Given the description of an element on the screen output the (x, y) to click on. 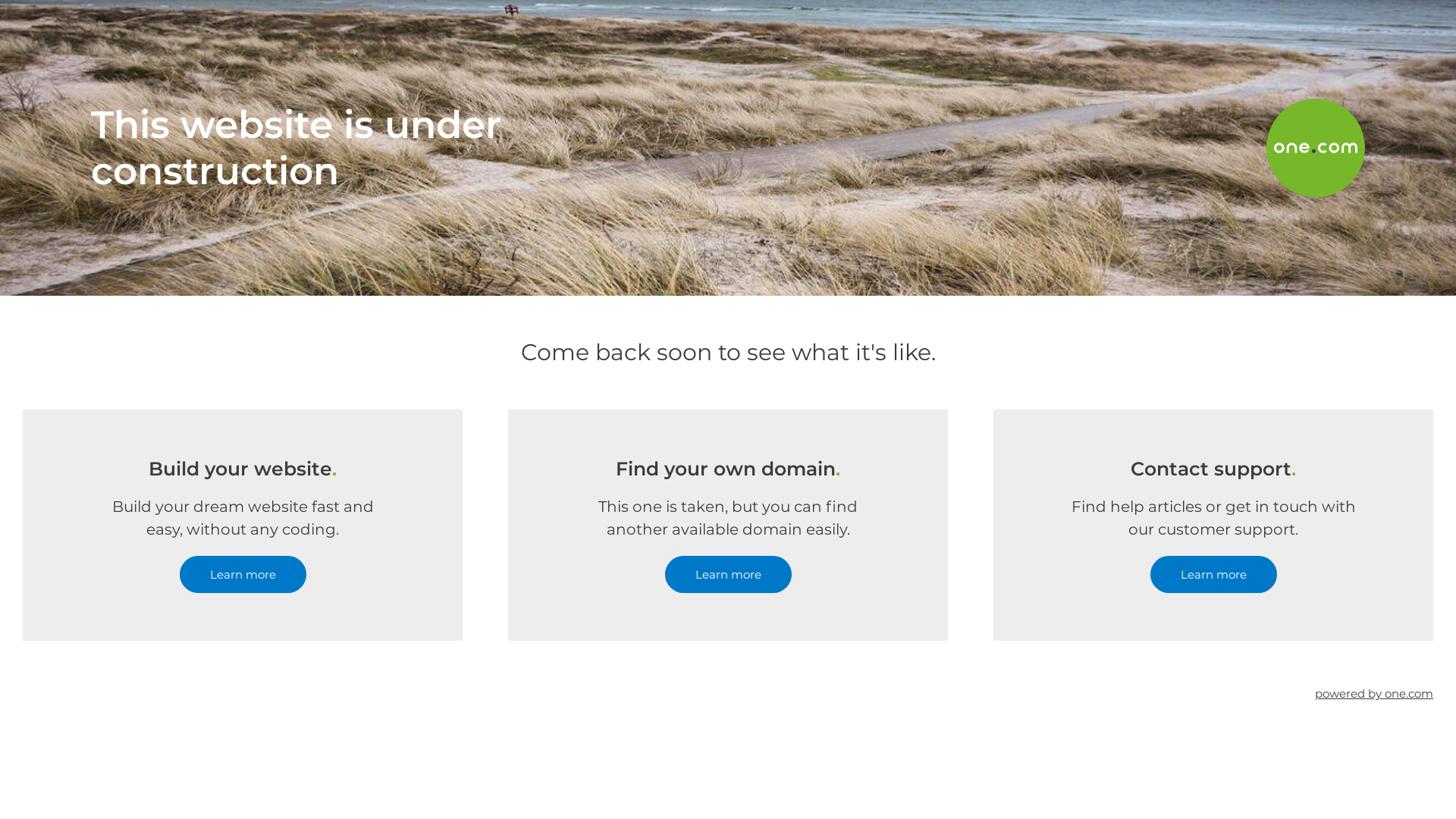
Learn more Element type: text (1212, 574)
Learn more Element type: text (727, 574)
Learn more Element type: text (241, 574)
powered by one.com Element type: text (1373, 693)
